Given the description of an element on the screen output the (x, y) to click on. 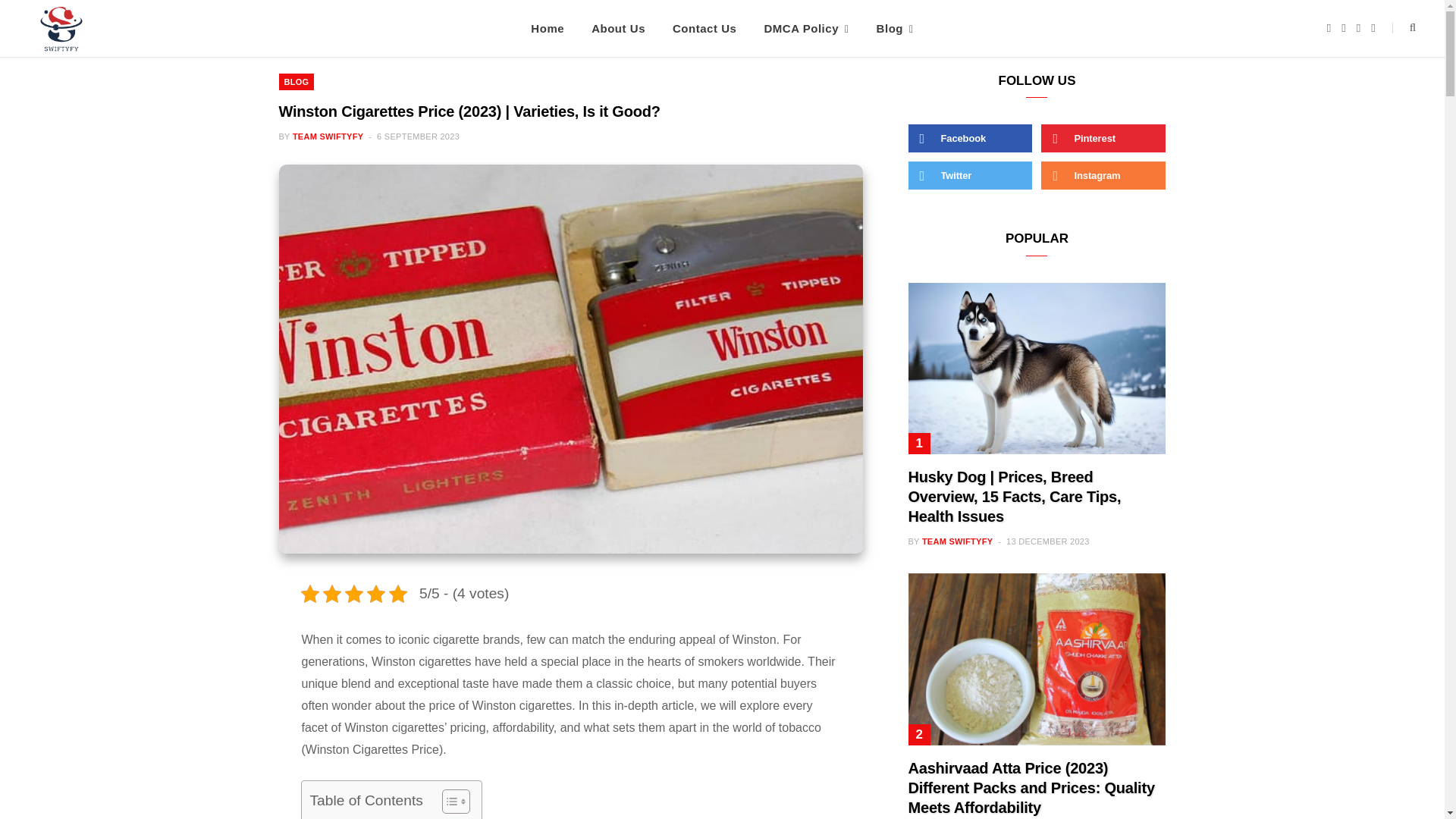
Contact Us (704, 28)
Home (547, 28)
BLOG (296, 81)
TEAM SWIFTYFY (327, 135)
Blog (895, 28)
Posts by Team SwiftyFy (327, 135)
DMCA Policy (805, 28)
6 SEPTEMBER 2023 (418, 135)
About Us (618, 28)
SwiftyFy (63, 31)
